Given the description of an element on the screen output the (x, y) to click on. 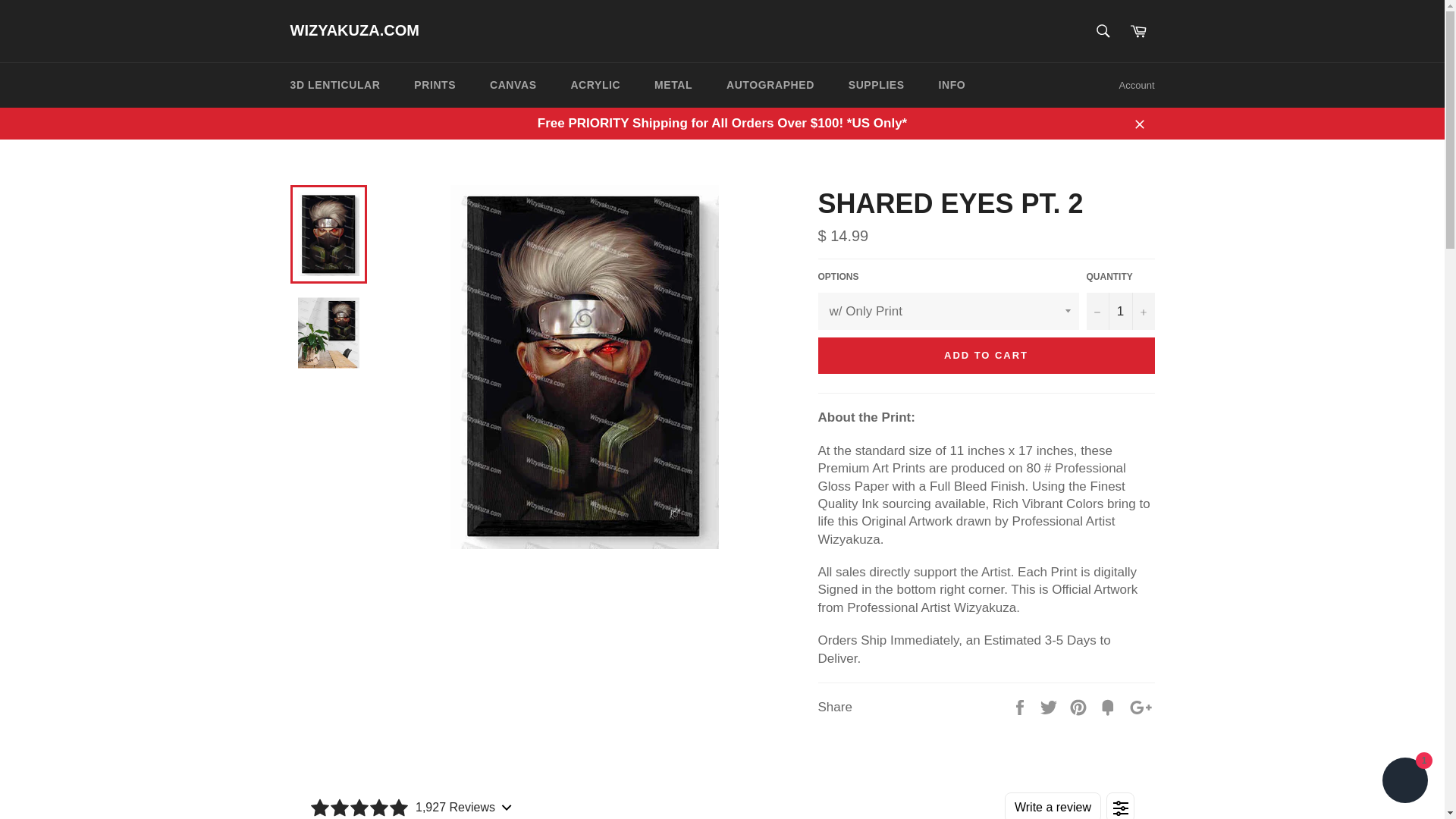
ADD TO CART (985, 355)
METAL (673, 85)
Share (1021, 707)
ACRYLIC (594, 85)
Pin it (1079, 707)
CANVAS (512, 85)
Shopify online store chat (1404, 781)
Product reviews widget (721, 798)
AUTOGRAPHED (770, 85)
Cart (1138, 30)
Close (1139, 123)
3D LENTICULAR (334, 85)
PRINTS (434, 85)
Tweet (1050, 707)
SUPPLIES (876, 85)
